Given the description of an element on the screen output the (x, y) to click on. 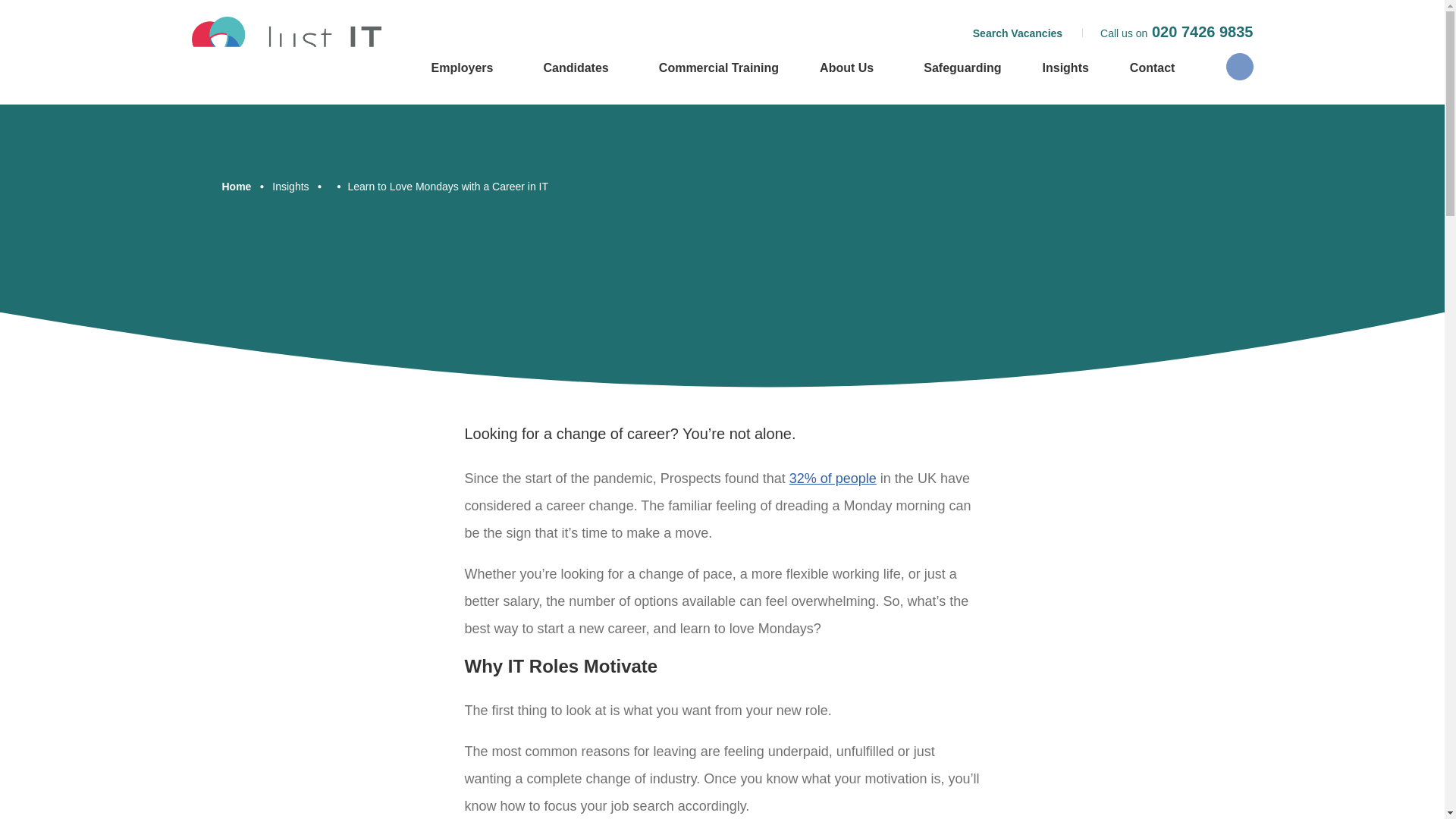
Search Vacancies (1017, 33)
Candidates (580, 68)
Call us on 020 7426 9835 (1176, 31)
Employers (466, 68)
Employers (466, 68)
